Given the description of an element on the screen output the (x, y) to click on. 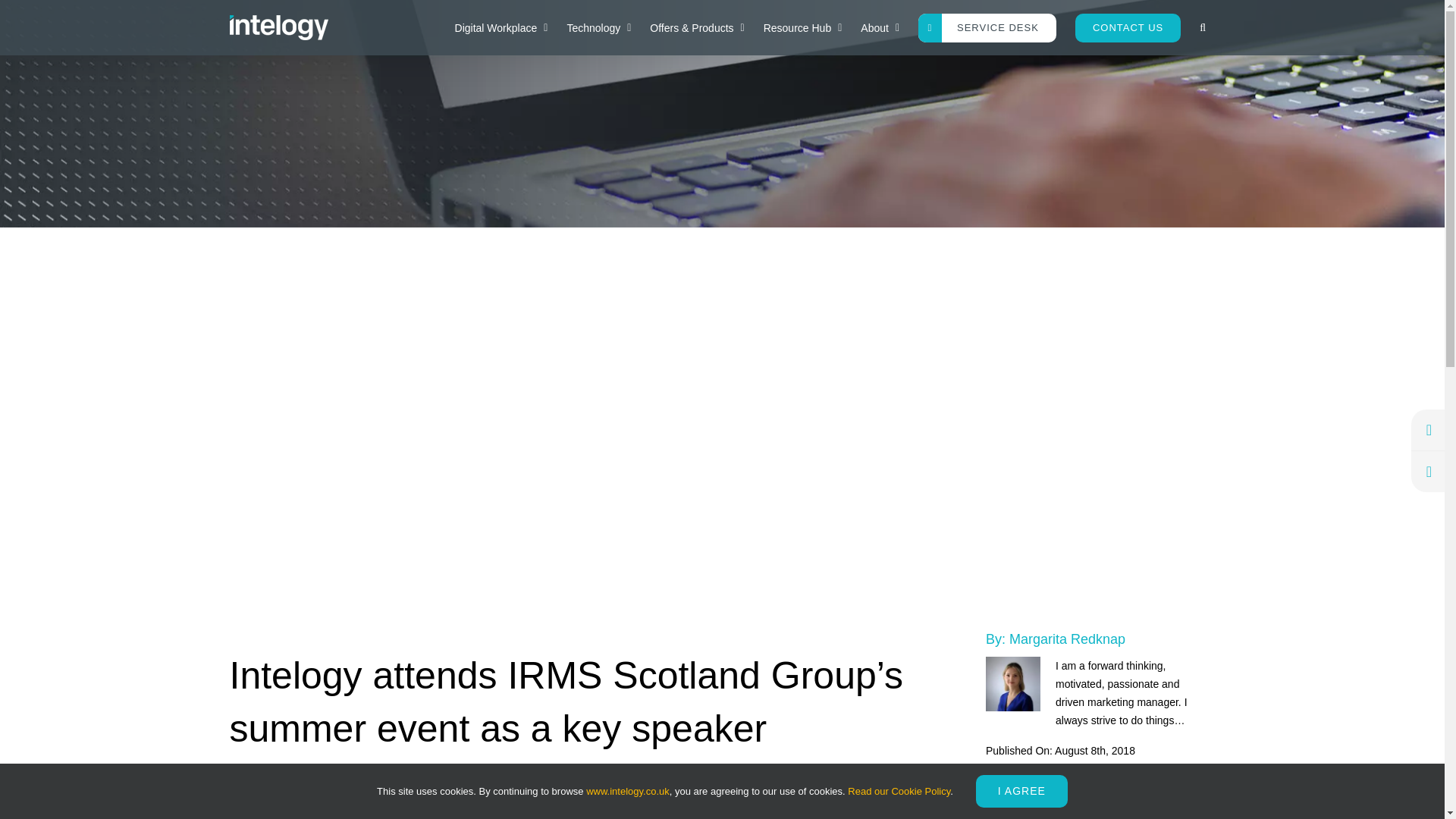
Resource Hub (802, 27)
Digital Workplace (501, 27)
Technology (598, 27)
